Given the description of an element on the screen output the (x, y) to click on. 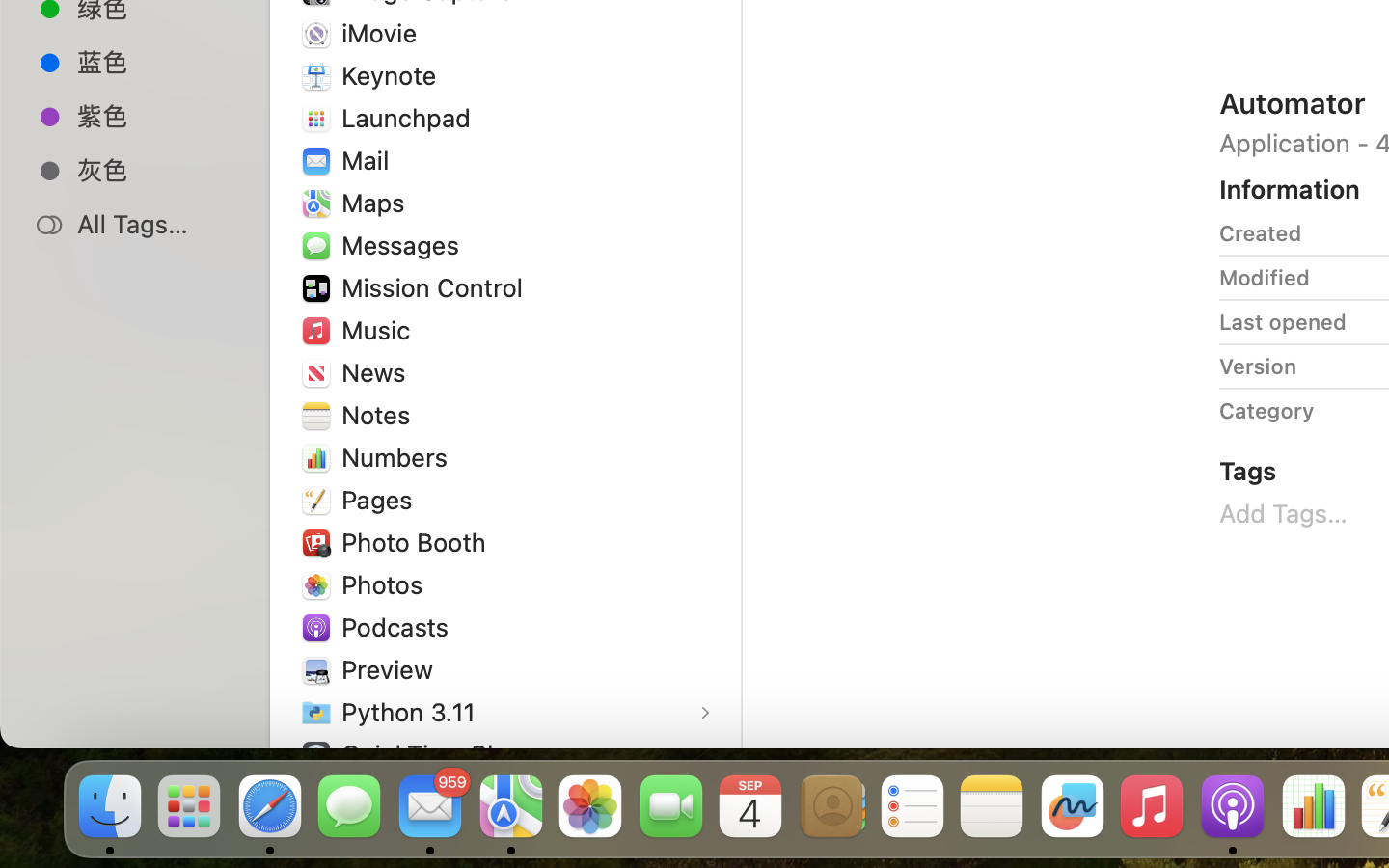
Python 3.11 Element type: AXTextField (412, 711)
Pages Element type: AXTextField (380, 499)
Music Element type: AXTextField (379, 329)
Photos Element type: AXTextField (386, 584)
iMovie Element type: AXTextField (383, 32)
